Given the description of an element on the screen output the (x, y) to click on. 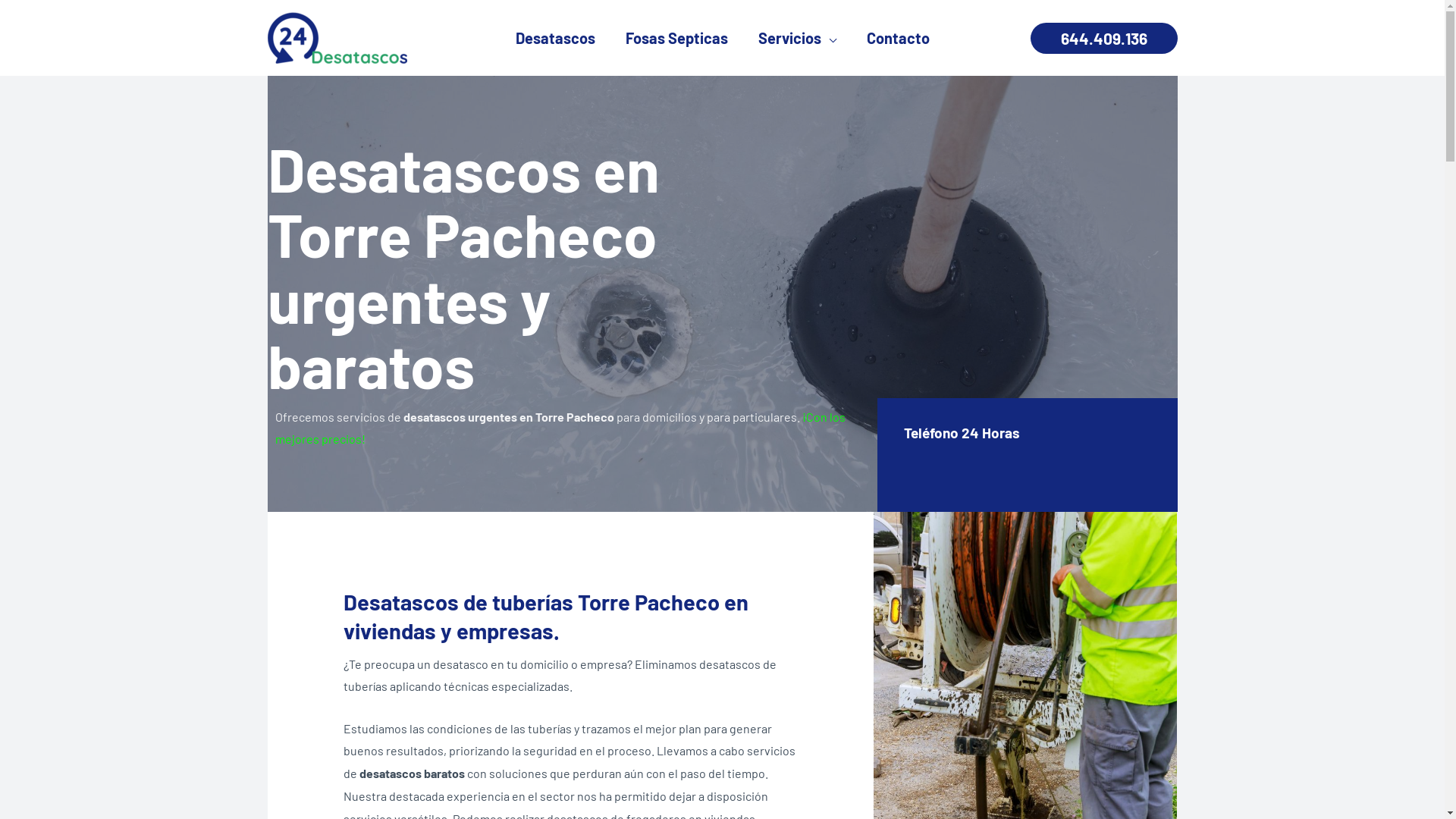
Fosas Septicas Element type: text (675, 37)
Servicios Element type: text (797, 37)
Desatascos Element type: text (555, 37)
644.409.136 Element type: text (1102, 37)
Contacto Element type: text (897, 37)
